Given the description of an element on the screen output the (x, y) to click on. 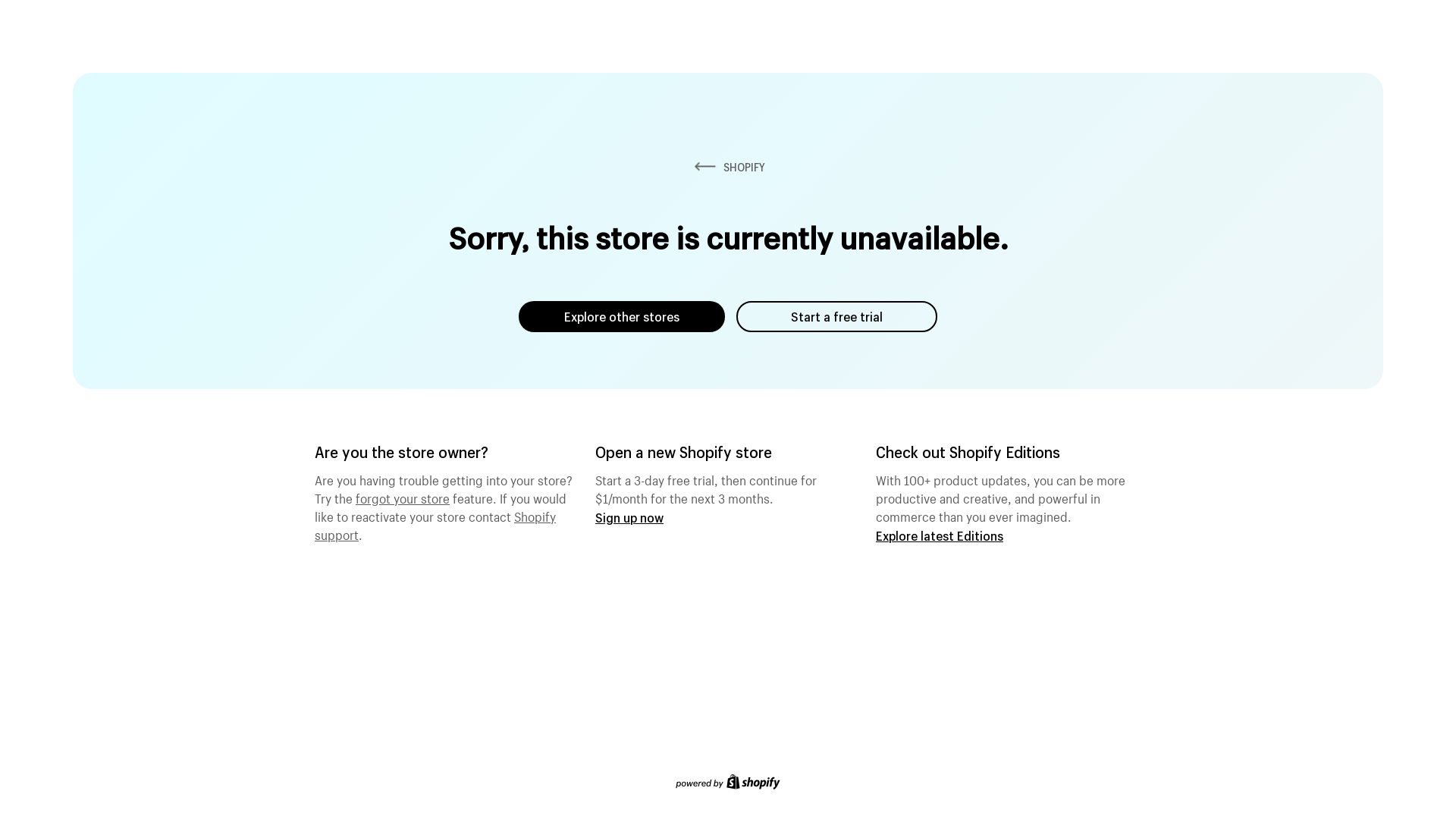
Start a free trial Element type: text (836, 316)
SHOPIFY Element type: text (727, 167)
Explore latest Editions Element type: text (939, 535)
forgot your store Element type: text (402, 496)
Shopify support Element type: text (434, 523)
Sign up now Element type: text (629, 517)
Explore other stores Element type: text (621, 316)
